Given the description of an element on the screen output the (x, y) to click on. 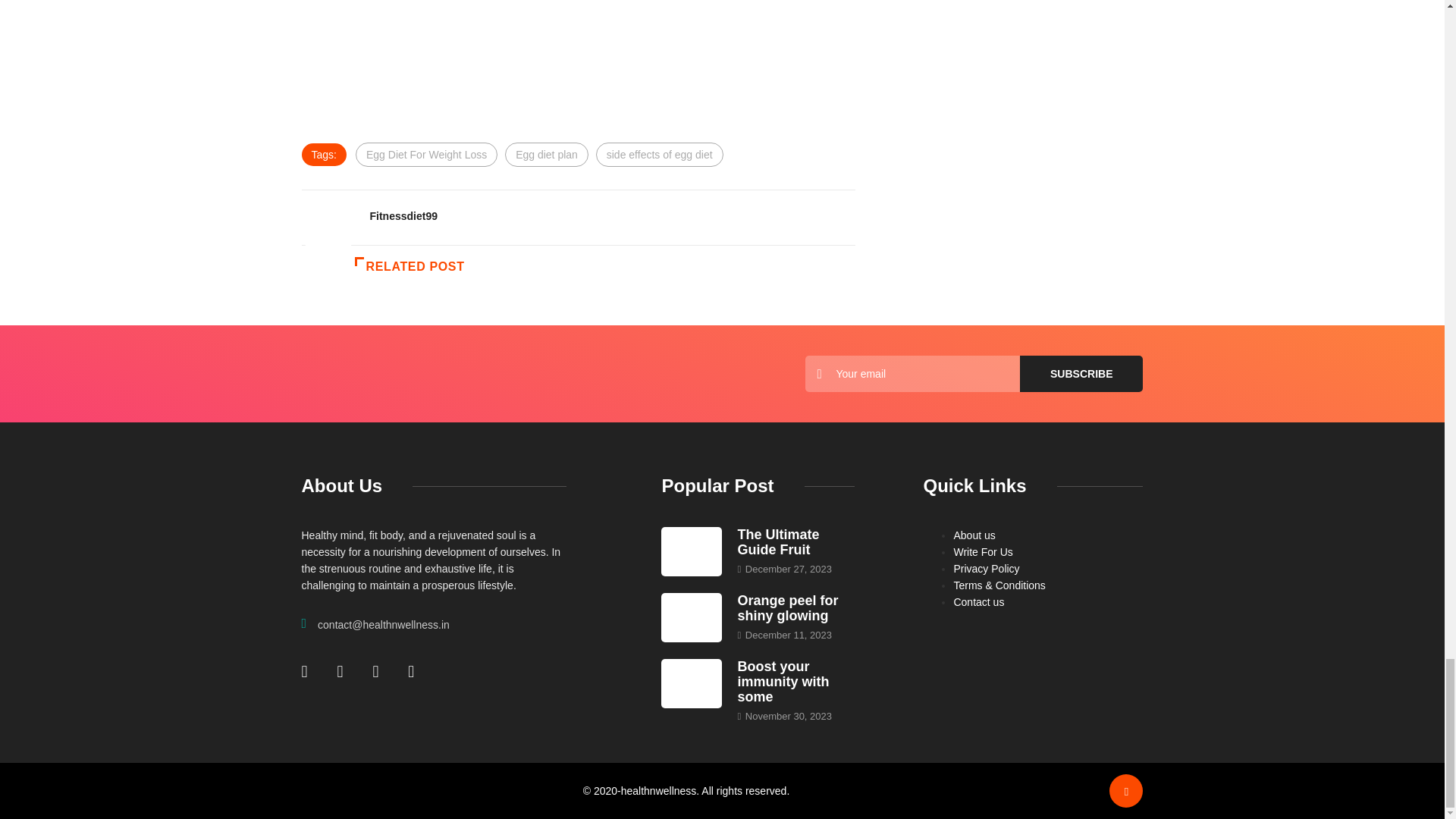
side effects of egg diet (659, 154)
Subscribe (1081, 373)
Boost your immunity with some of the best superfoods (691, 683)
Egg diet plan (546, 154)
Egg Diet For Weight Loss (426, 154)
The Ultimate Guide Fruit (691, 551)
Boost your immunity with some of the best superfoods (782, 681)
Orange peel for shiny glowing skin (691, 617)
Orange peel for shiny glowing skin (787, 607)
The Ultimate Guide Fruit (777, 542)
